Given the description of an element on the screen output the (x, y) to click on. 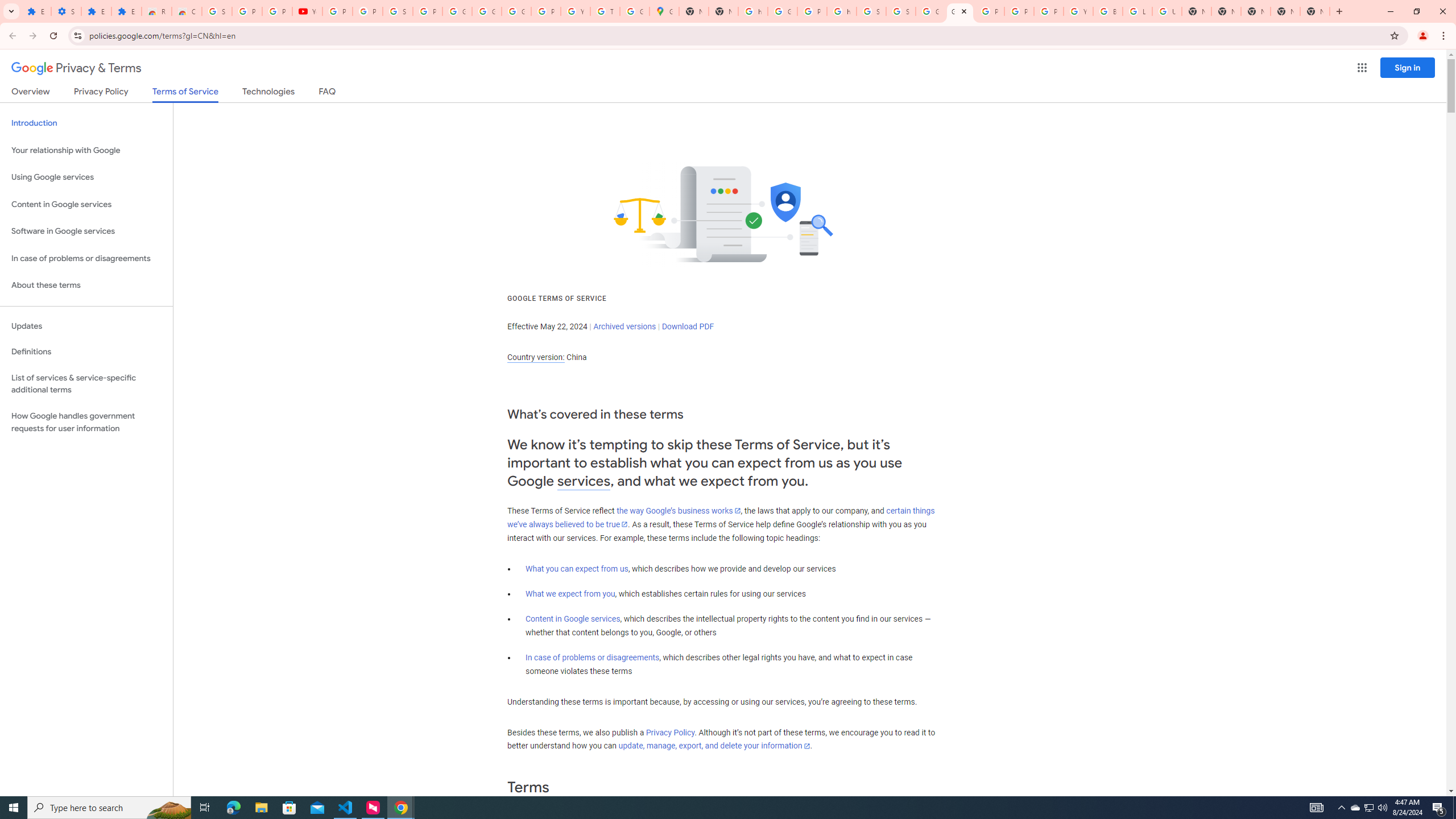
Google Account (486, 11)
https://scholar.google.com/ (753, 11)
YouTube (306, 11)
Google Maps (664, 11)
Content in Google services (572, 618)
services (583, 480)
Google Account (456, 11)
In case of problems or disagreements (592, 657)
